Given the description of an element on the screen output the (x, y) to click on. 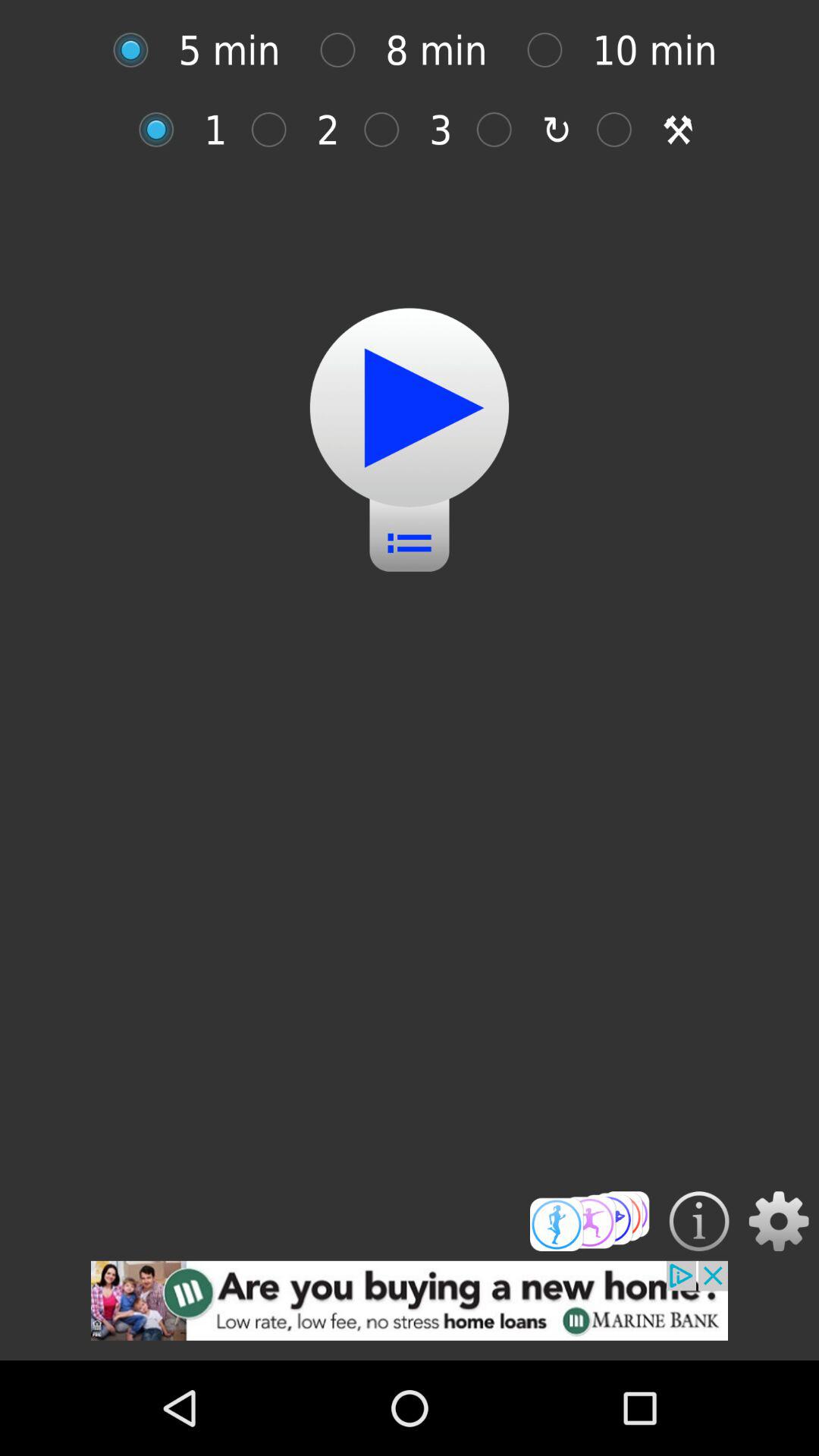
play for 8 minutes (345, 49)
